Given the description of an element on the screen output the (x, y) to click on. 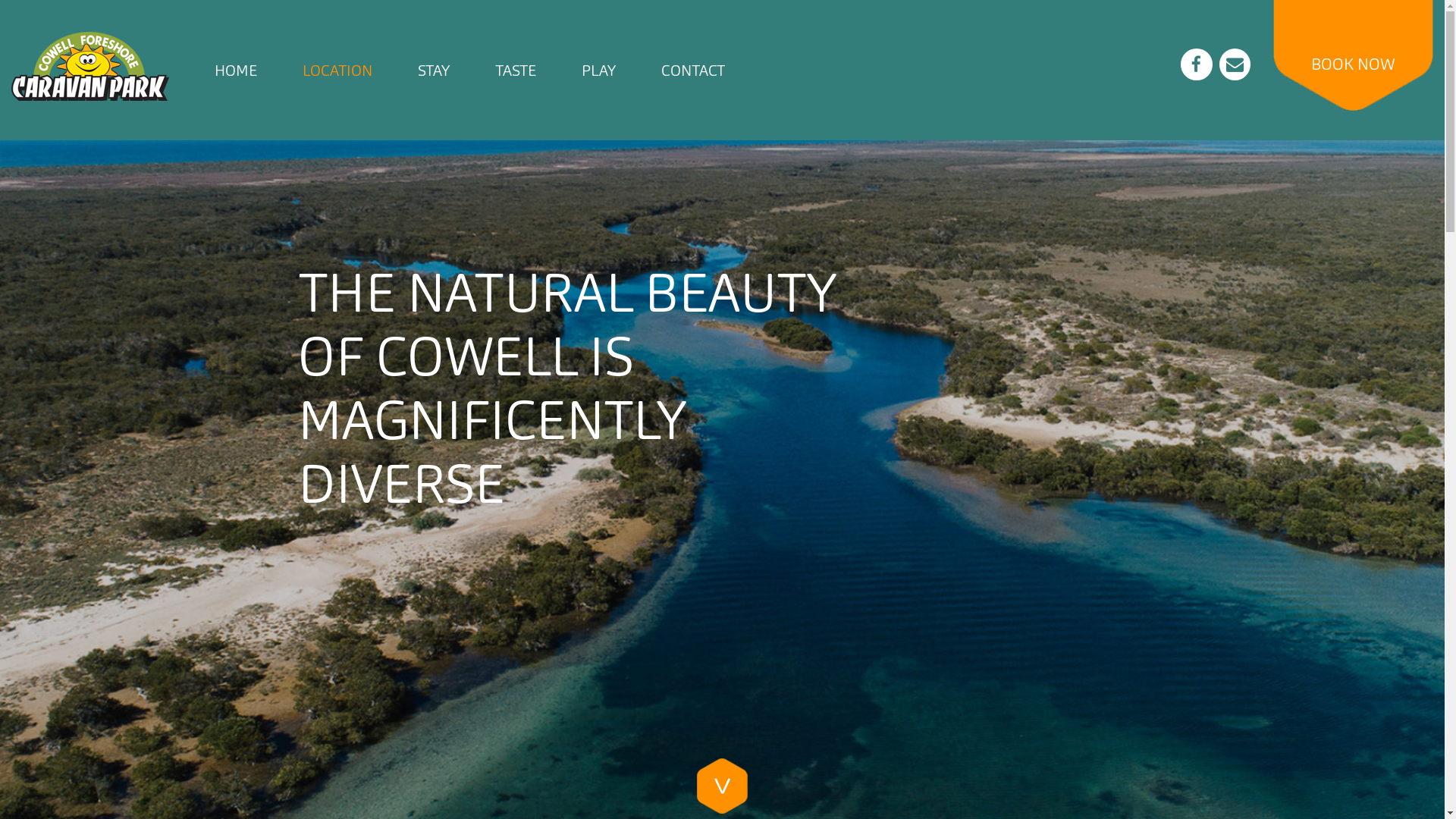
STAY Element type: text (433, 69)
CONTACT Element type: text (692, 69)
TASTE Element type: text (515, 69)
PLAY Element type: text (598, 69)
BOOK NOW Element type: text (1353, 64)
HOME Element type: text (235, 69)
LOCATION Element type: text (337, 69)
